Given the description of an element on the screen output the (x, y) to click on. 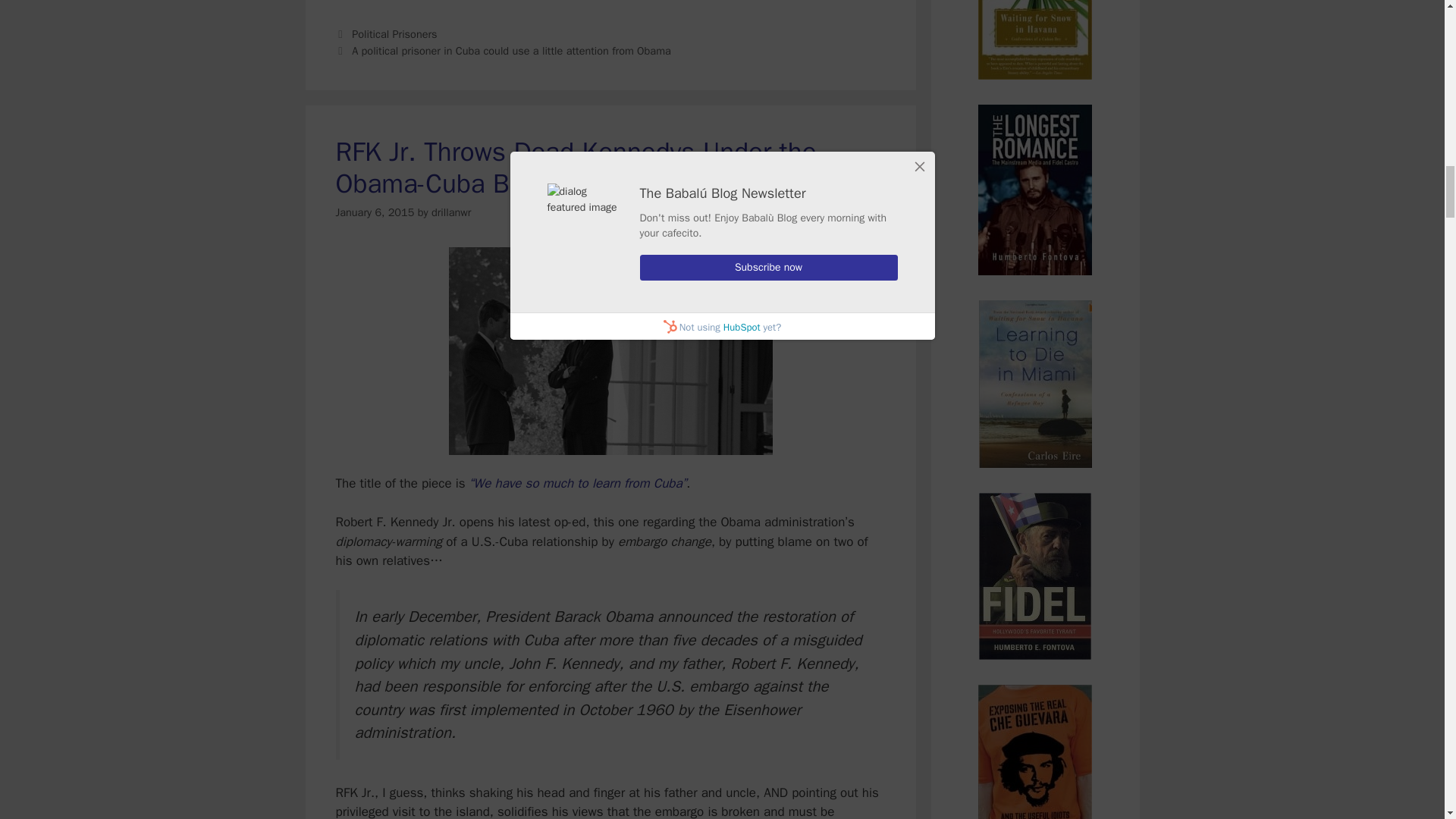
Political Prisoners (394, 33)
drillanwr (450, 212)
RFK Jr. Throws Dead Kennedys Under the Obama-Cuba Bus (574, 167)
View all posts by drillanwr (450, 212)
